Given the description of an element on the screen output the (x, y) to click on. 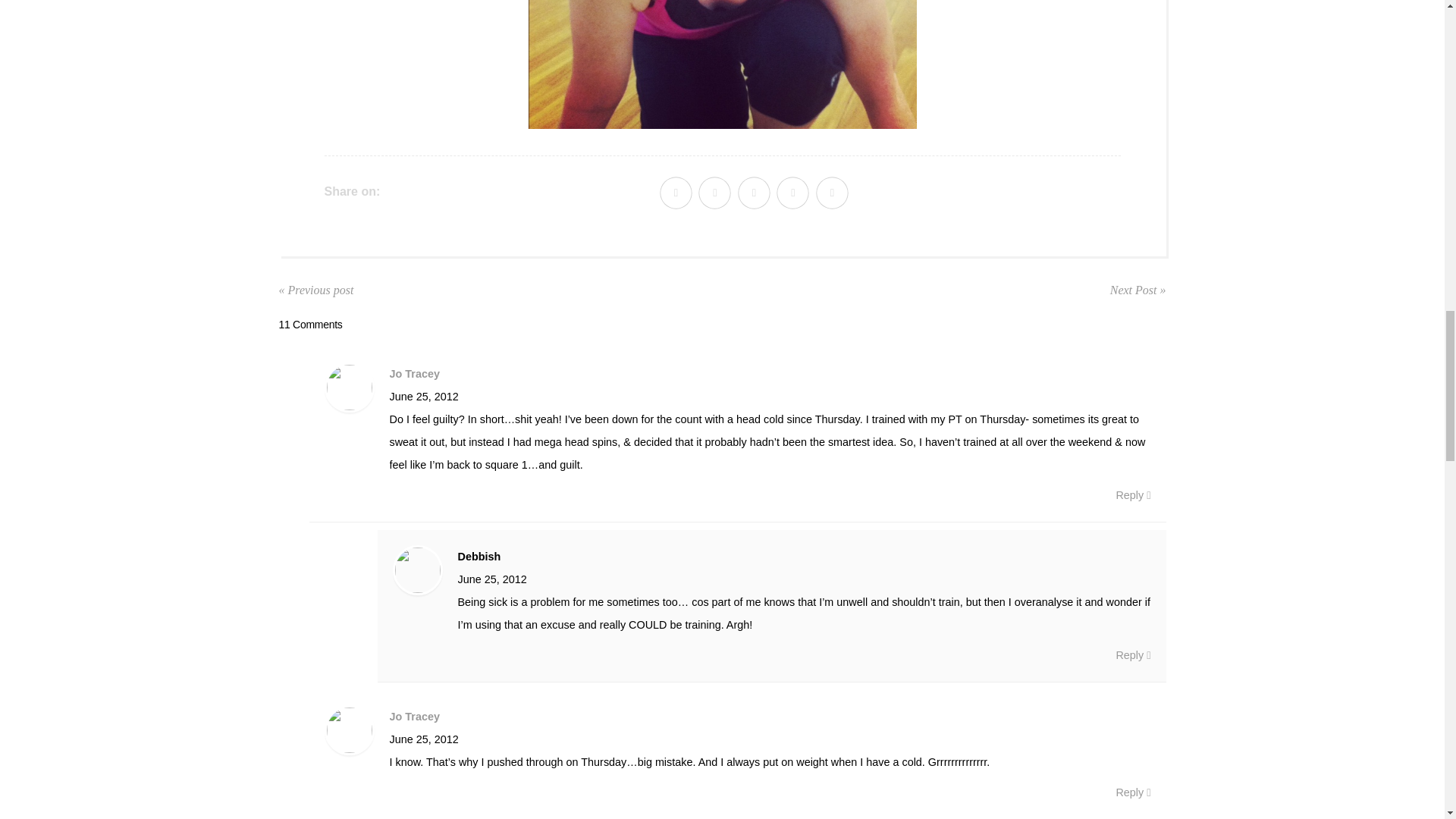
Reply (1132, 654)
Reply (1132, 792)
Reply (1132, 495)
Jo Tracey (414, 373)
Jo Tracey (414, 716)
